Given the description of an element on the screen output the (x, y) to click on. 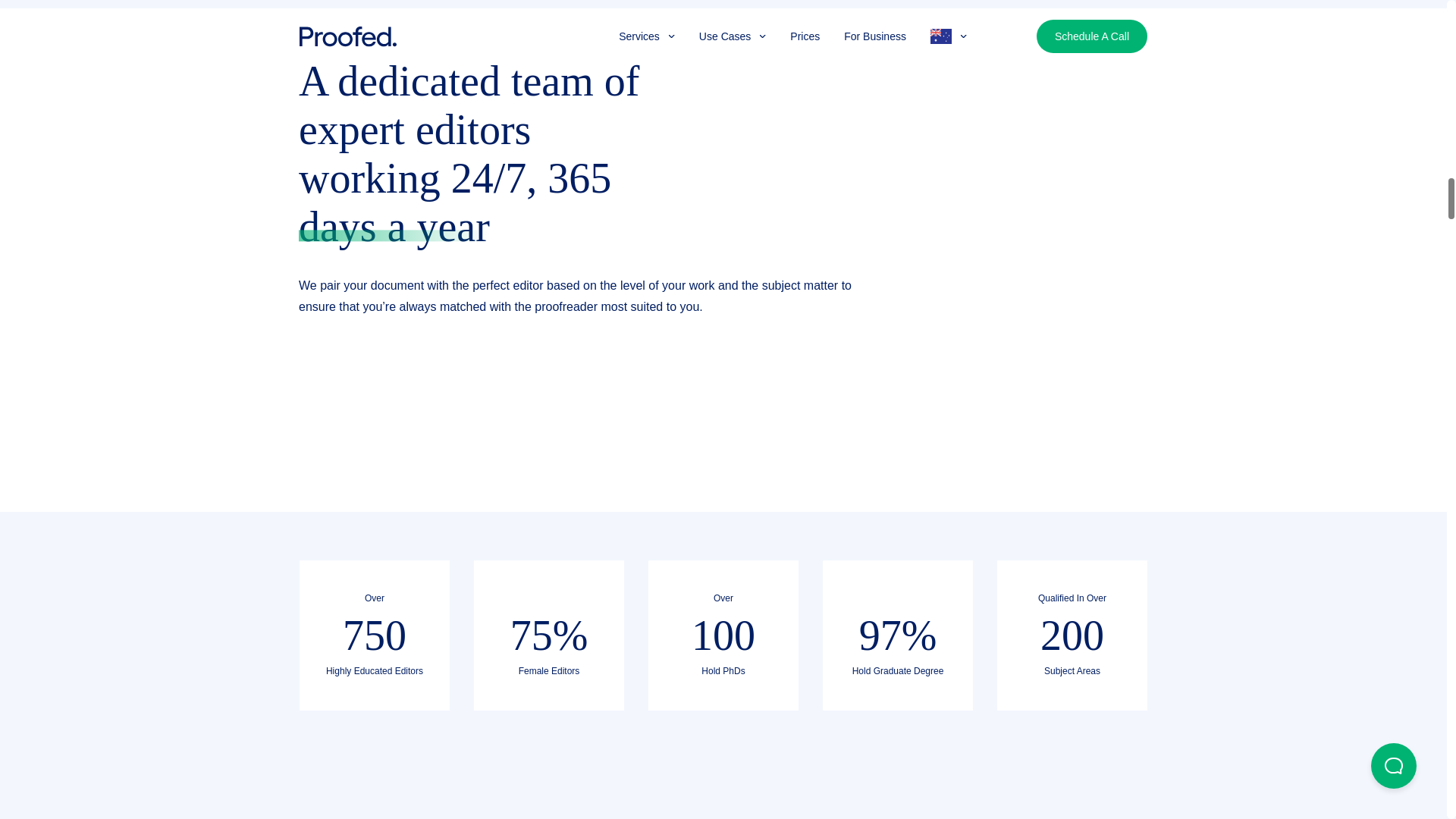
Click To Read The Full Story (432, 659)
Schedule A Call (587, 659)
